Given the description of an element on the screen output the (x, y) to click on. 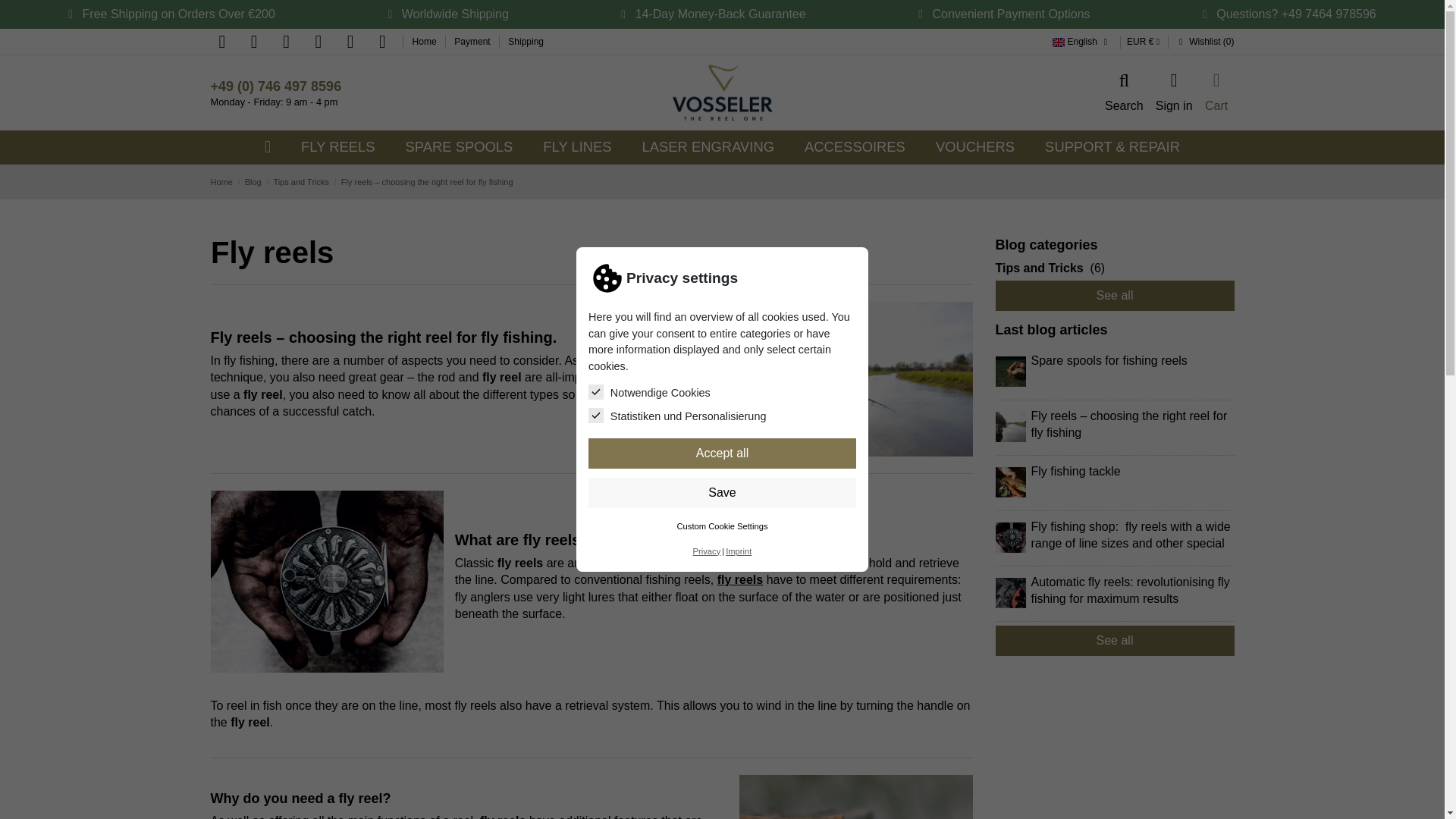
Imprint (738, 545)
Shipping (525, 41)
English (1081, 41)
Payment (473, 41)
xing (382, 41)
Home (425, 41)
Custom Cookie Settings (722, 542)
English (1058, 41)
Accept all (722, 450)
Save (722, 512)
Shipping (525, 41)
pinterest (317, 41)
Payment (473, 41)
Privacy (706, 556)
youtube (350, 41)
